Given the description of an element on the screen output the (x, y) to click on. 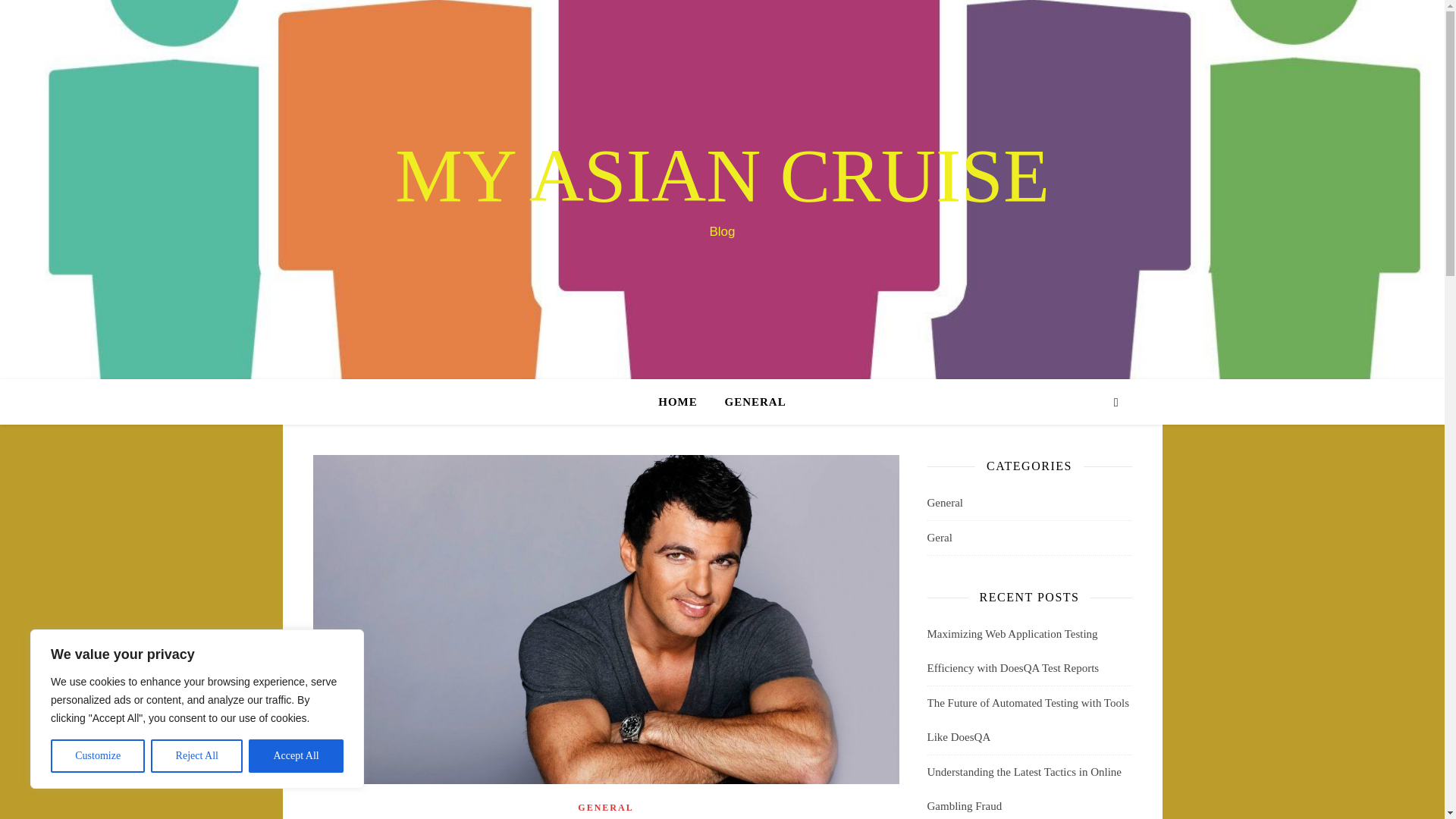
GENERAL (605, 807)
The Future of Automated Testing with Tools Like DoesQA (1027, 719)
HOME (684, 402)
Reject All (197, 756)
Customize (97, 756)
GENERAL (749, 402)
Accept All (295, 756)
General (944, 503)
